Given the description of an element on the screen output the (x, y) to click on. 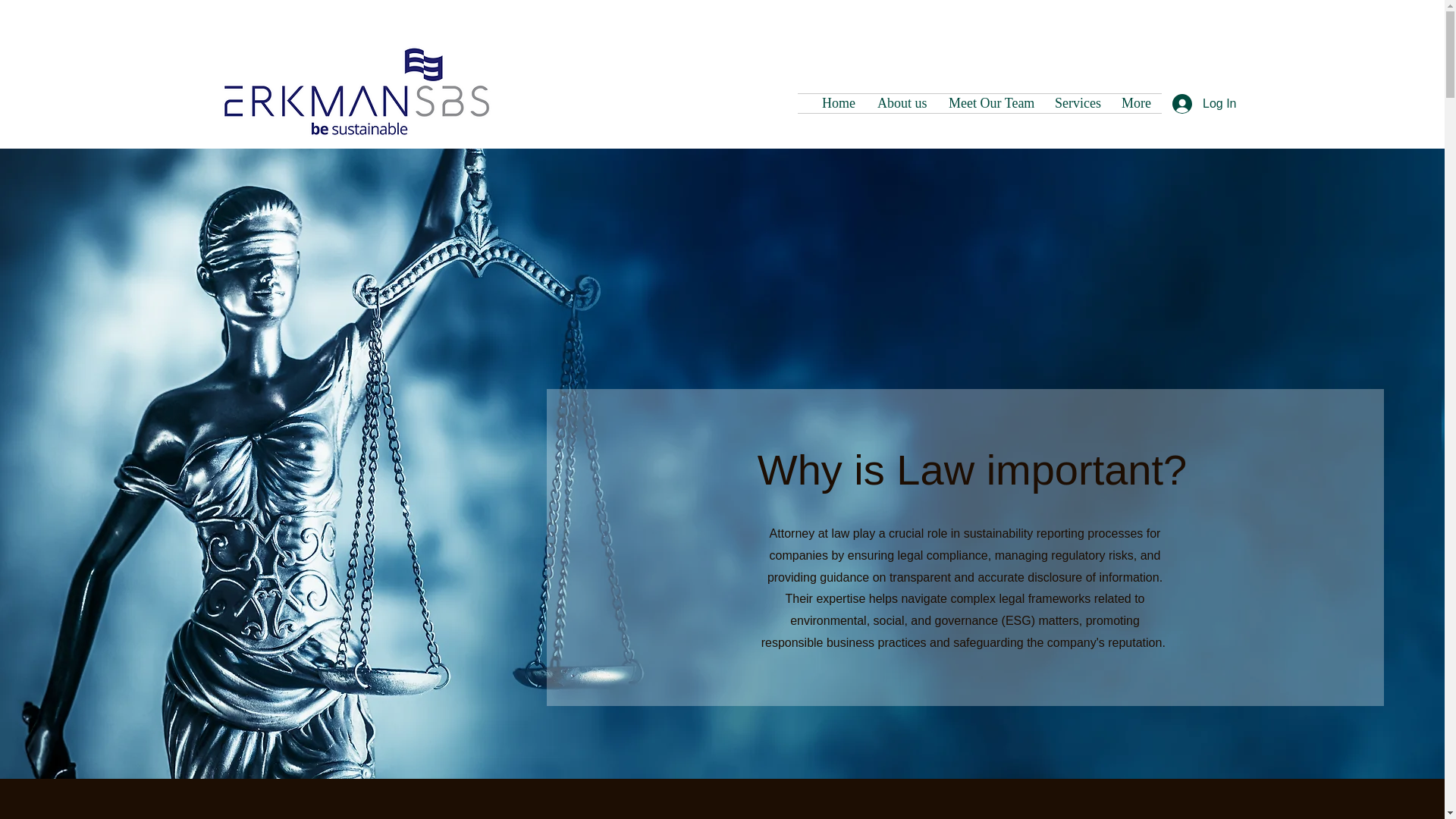
Meet Our Team (990, 103)
Log In (1178, 103)
Services (1076, 103)
About us (901, 103)
Home (838, 103)
